Given the description of an element on the screen output the (x, y) to click on. 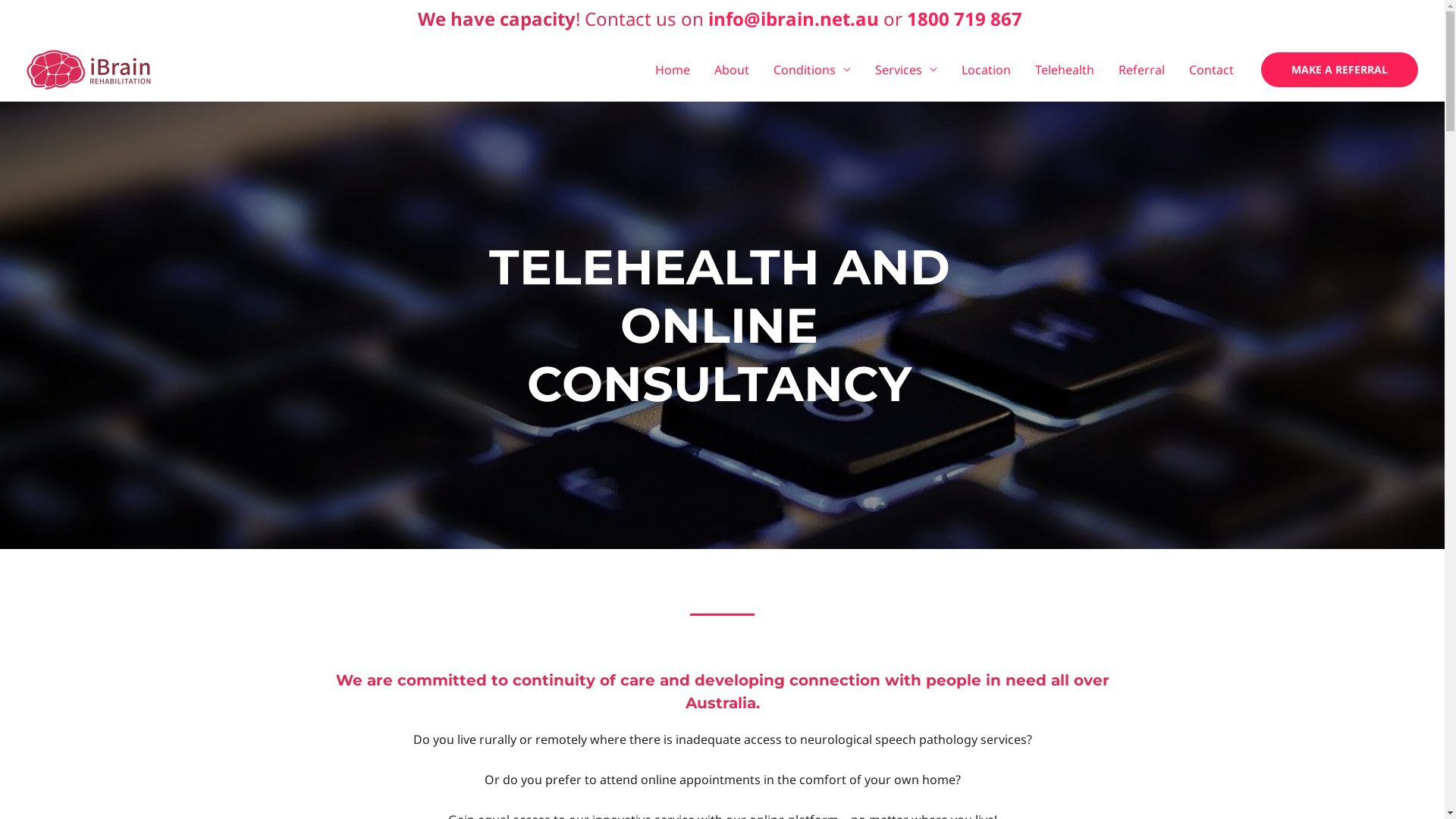
Contact Element type: text (1210, 69)
About Element type: text (731, 69)
MAKE A REFERRAL Element type: text (1339, 69)
Telehealth Element type: text (1064, 69)
Location Element type: text (985, 69)
1800 719 867 Element type: text (964, 18)
Conditions Element type: text (811, 69)
info@ibrain.net.au Element type: text (793, 18)
Services Element type: text (905, 69)
Home Element type: text (672, 69)
Referral Element type: text (1141, 69)
